Given the description of an element on the screen output the (x, y) to click on. 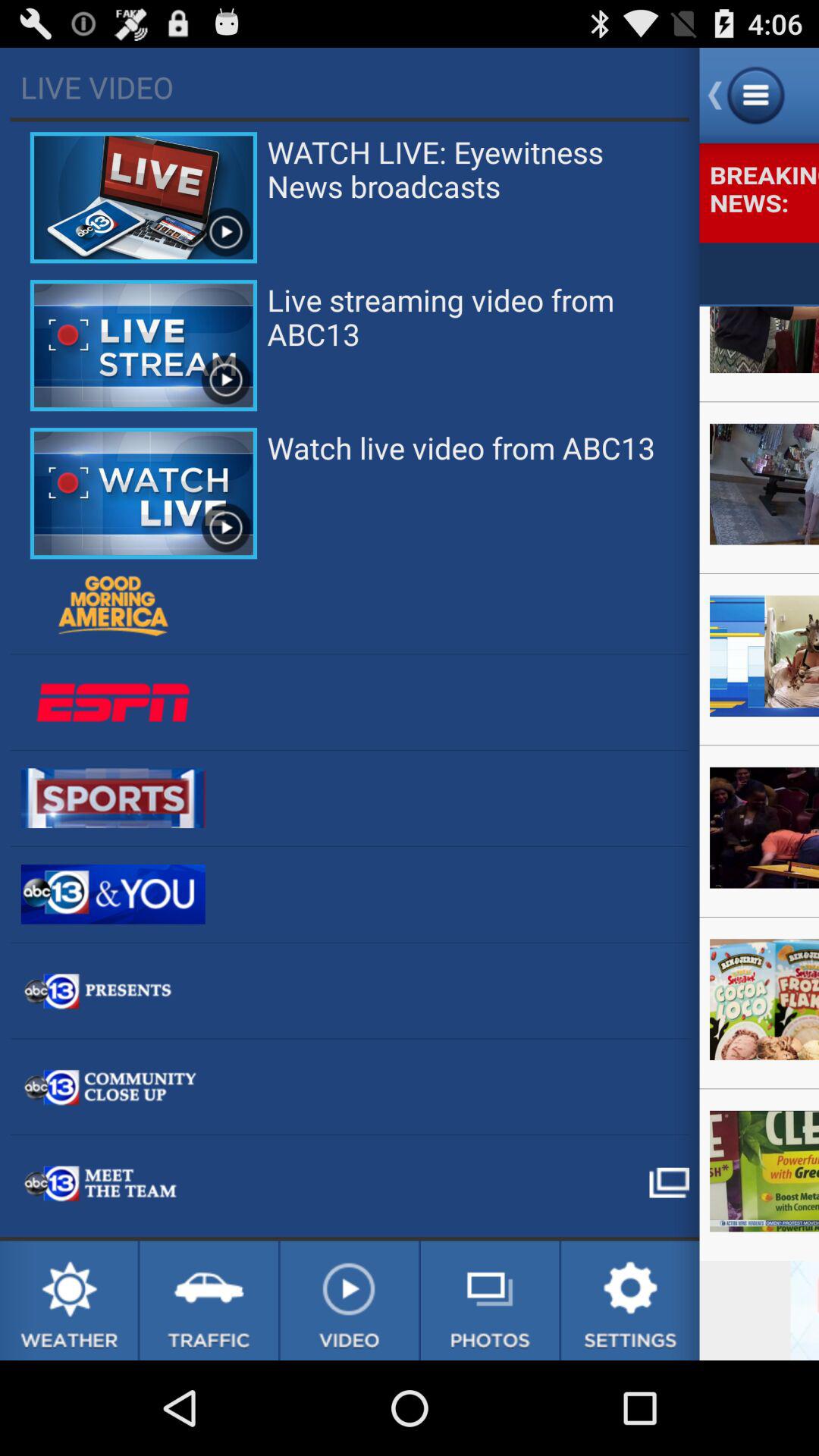
open settings (630, 1300)
